Given the description of an element on the screen output the (x, y) to click on. 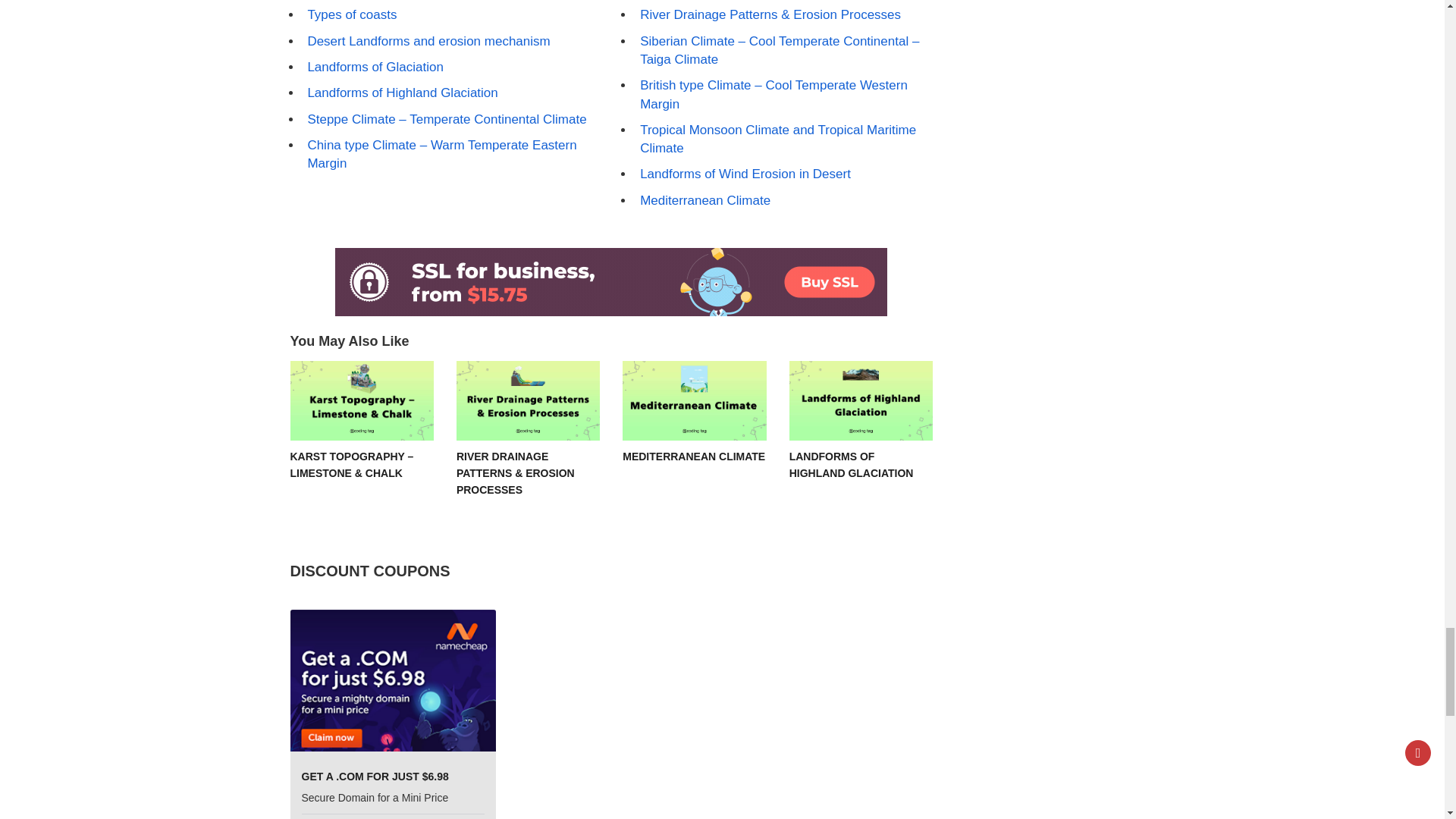
Landforms of Highland Glaciation (861, 400)
Mediterranean Climate (694, 400)
